Given the description of an element on the screen output the (x, y) to click on. 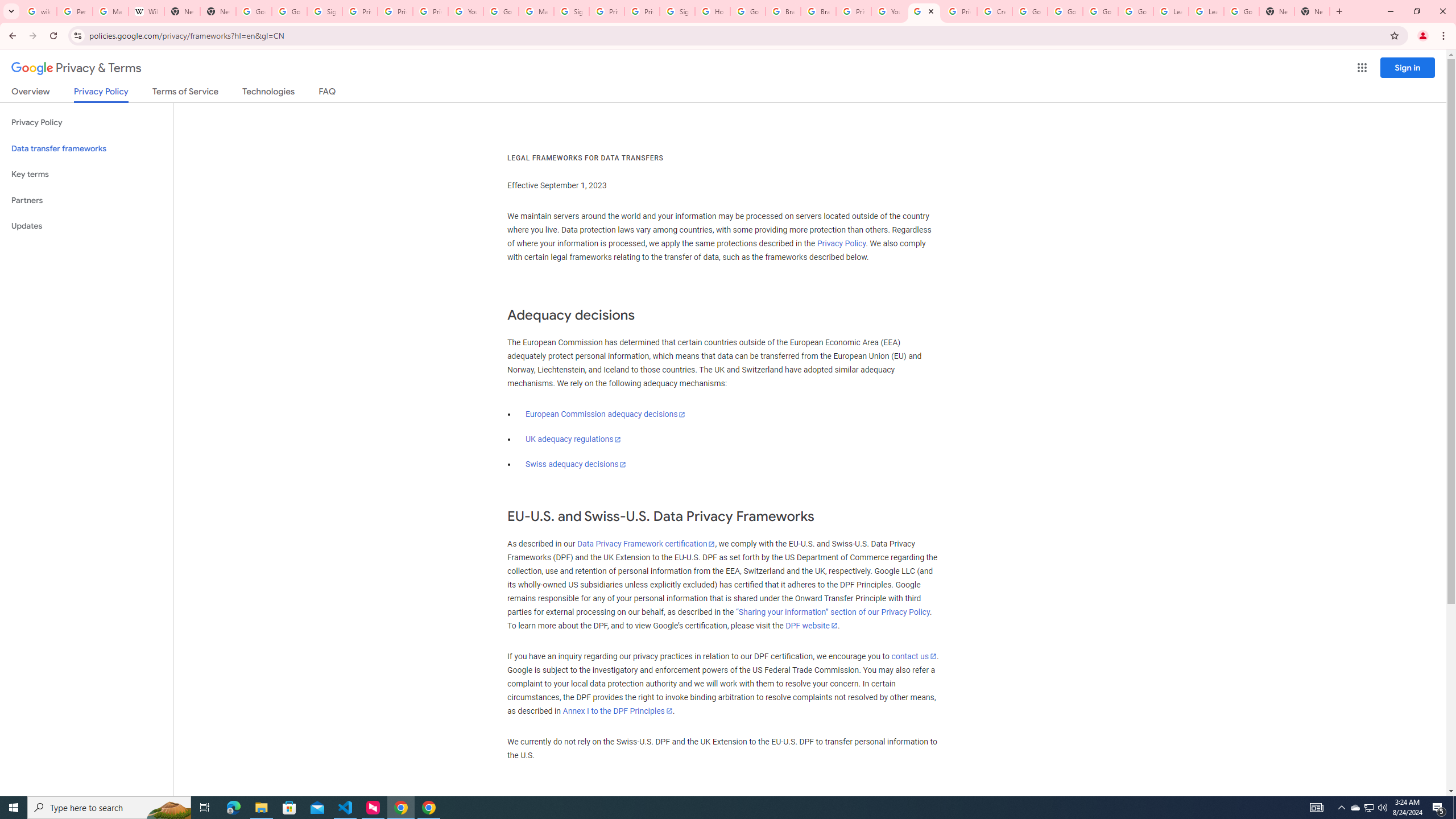
YouTube (888, 11)
New Tab (218, 11)
Brand Resource Center (783, 11)
New Tab (1312, 11)
UK adequacy regulations (573, 439)
Key terms (86, 174)
Create your Google Account (994, 11)
DPF website (810, 625)
Google Account Help (1135, 11)
